Given the description of an element on the screen output the (x, y) to click on. 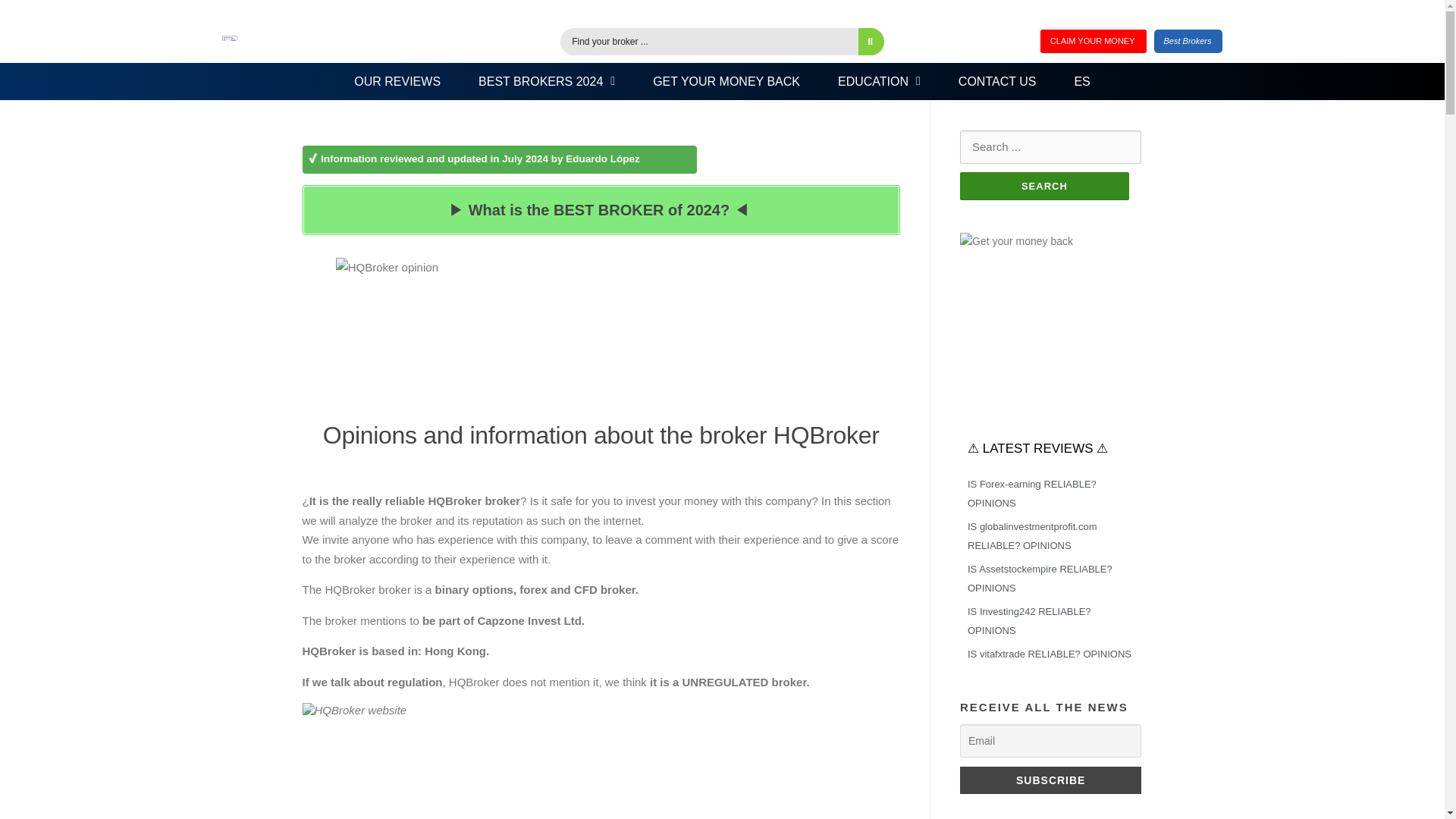
Best Brokers (1188, 41)
HQBroker website (600, 760)
HQBroker opinion (601, 333)
Subscribe (1050, 779)
CLAIM YOUR MONEY (1094, 41)
Search (1044, 185)
Search (1044, 185)
